Given the description of an element on the screen output the (x, y) to click on. 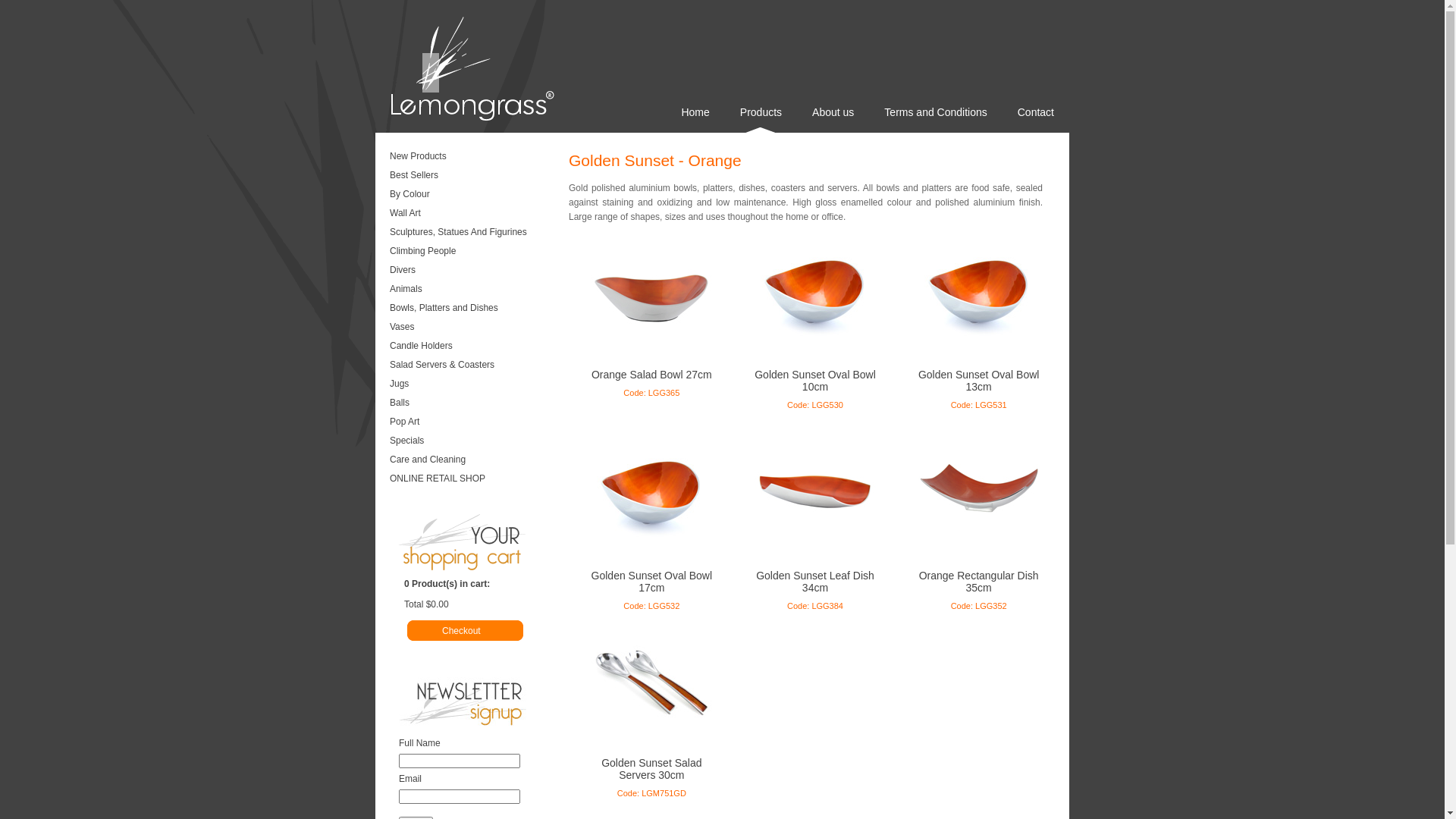
By Colour Element type: text (469, 195)
Products Element type: text (760, 119)
Golden Sunset Oval Bowl 13cm Element type: text (978, 380)
Home Element type: text (694, 119)
Golden Sunset Leaf Dish 34cm Element type: text (815, 581)
Balls Element type: text (469, 404)
Animals Element type: text (469, 290)
Sculptures, Statues And Figurines Element type: text (469, 233)
Golden Sunset Salad Servers 30cm Element type: text (651, 768)
Pop Art Element type: text (469, 423)
Orange Rectangular Dish 35cm Element type: text (978, 581)
Specials Element type: text (469, 441)
About us Element type: text (833, 119)
Wall Art Element type: text (469, 214)
Best Sellers Element type: text (469, 176)
Vases Element type: text (469, 328)
Jugs Element type: text (469, 385)
Climbing People Element type: text (469, 252)
Golden Sunset Oval Bowl 10cm Element type: text (814, 380)
Terms and Conditions Element type: text (935, 119)
Bowls, Platters and Dishes Element type: text (469, 309)
Candle Holders Element type: text (469, 347)
Orange Salad Bowl 27cm Element type: text (651, 374)
Salad Servers & Coasters Element type: text (469, 366)
ONLINE RETAIL SHOP Element type: text (469, 479)
Care and Cleaning Element type: text (469, 460)
Checkout Element type: text (483, 630)
Golden Sunset Oval Bowl 17cm Element type: text (651, 581)
New Products Element type: text (469, 157)
Divers Element type: text (469, 271)
Contact Element type: text (1035, 119)
